Given the description of an element on the screen output the (x, y) to click on. 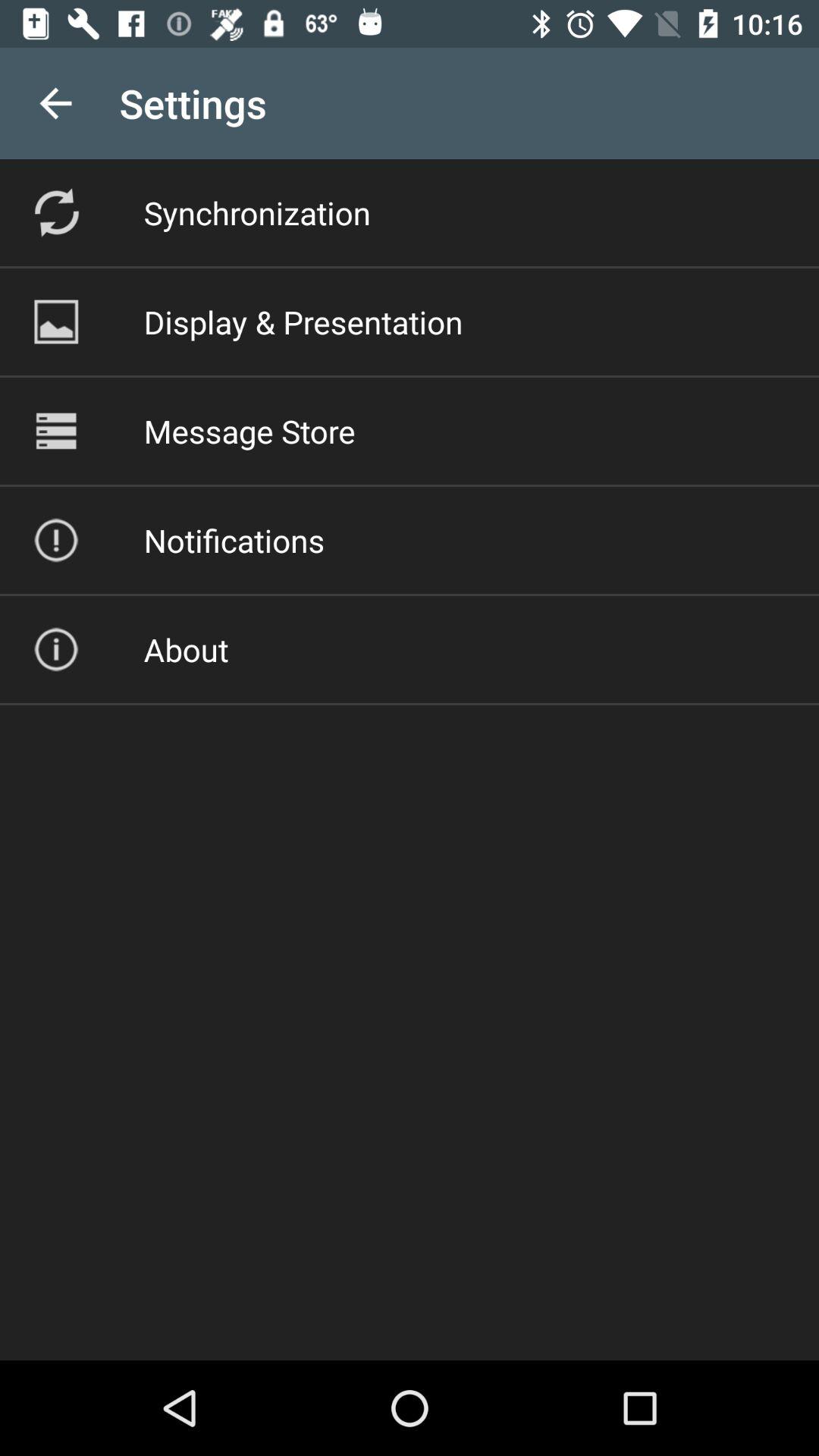
jump to the synchronization (256, 212)
